Given the description of an element on the screen output the (x, y) to click on. 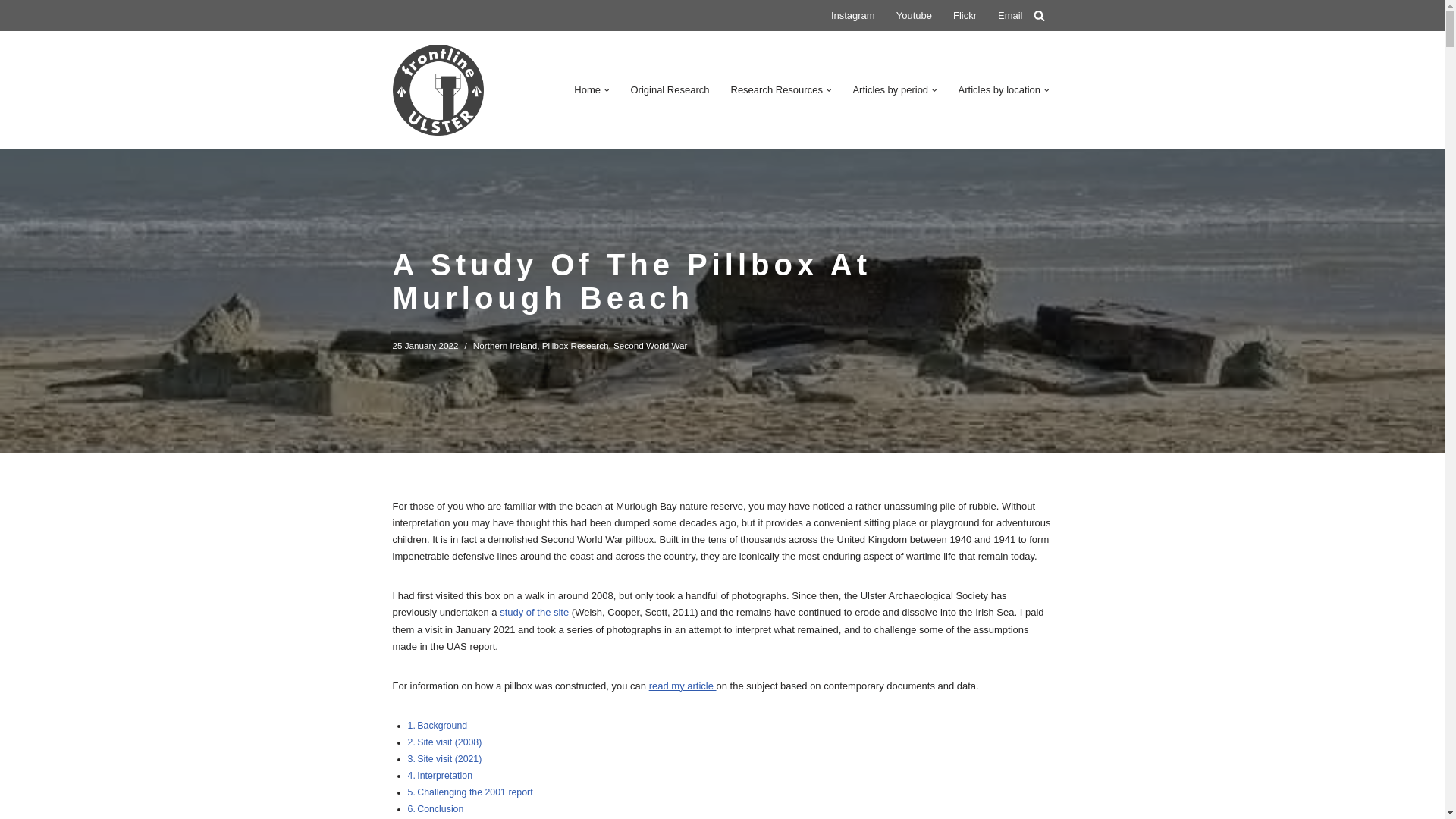
Email (1010, 15)
Challenging the 2001 report (474, 792)
Background (441, 725)
Research Resources (776, 89)
Skip to content (11, 31)
Flickr (964, 15)
Instagram (853, 15)
Conclusion (439, 808)
Home (586, 89)
Original Research (669, 89)
